Given the description of an element on the screen output the (x, y) to click on. 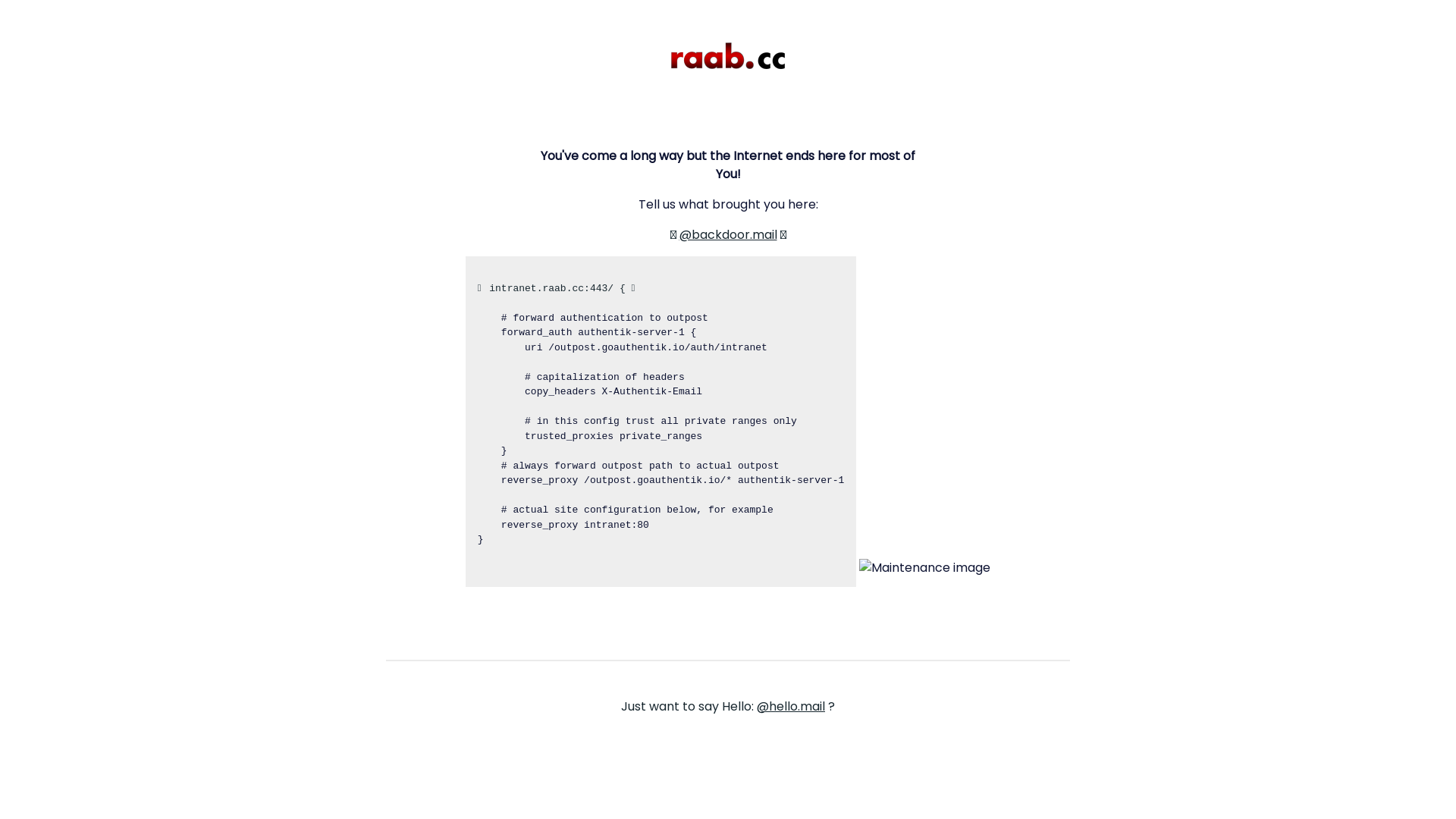
Just want to say Hello: @hello.mail ? Element type: text (727, 706)
